Given the description of an element on the screen output the (x, y) to click on. 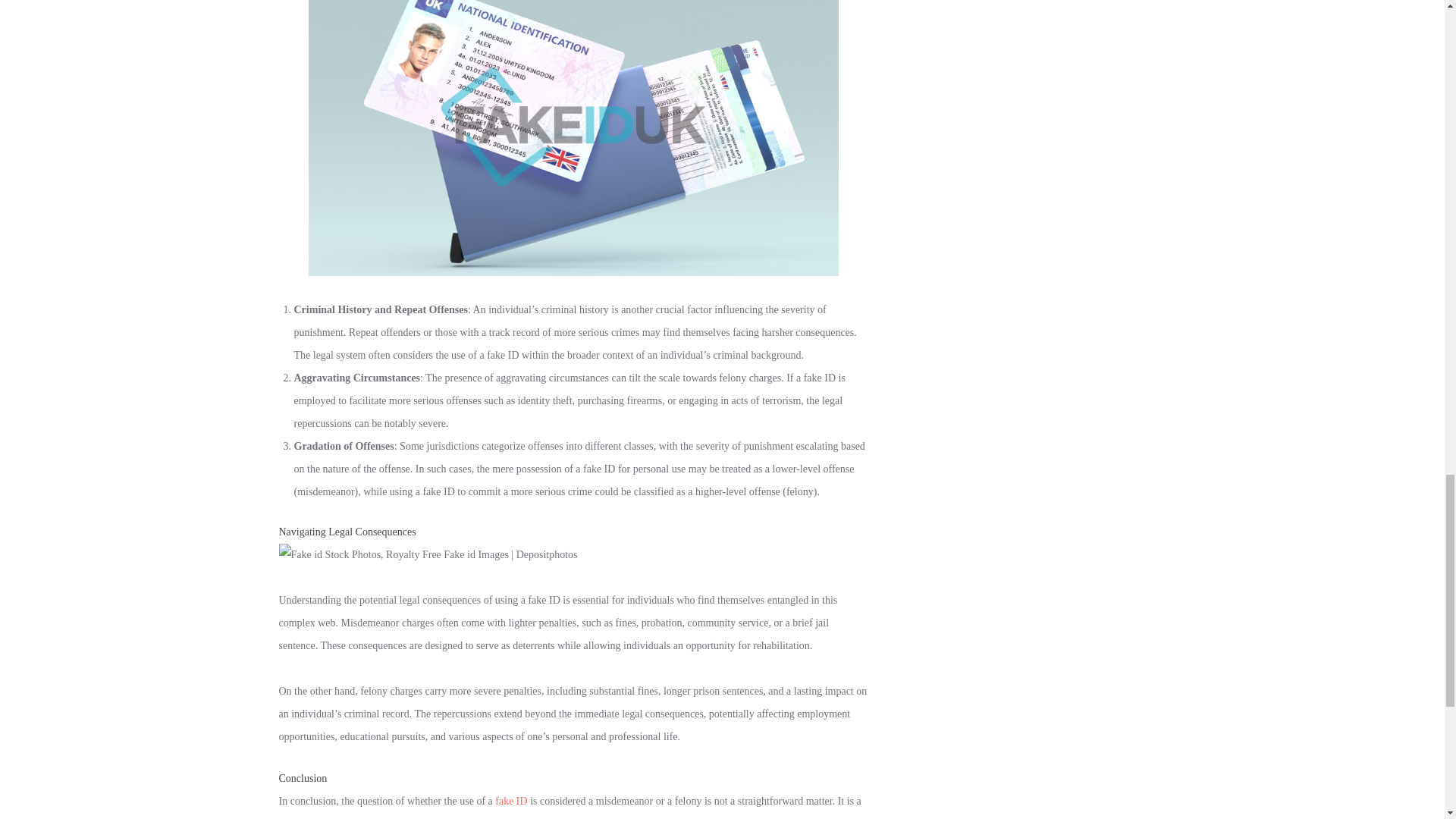
fake ID (511, 800)
